Given the description of an element on the screen output the (x, y) to click on. 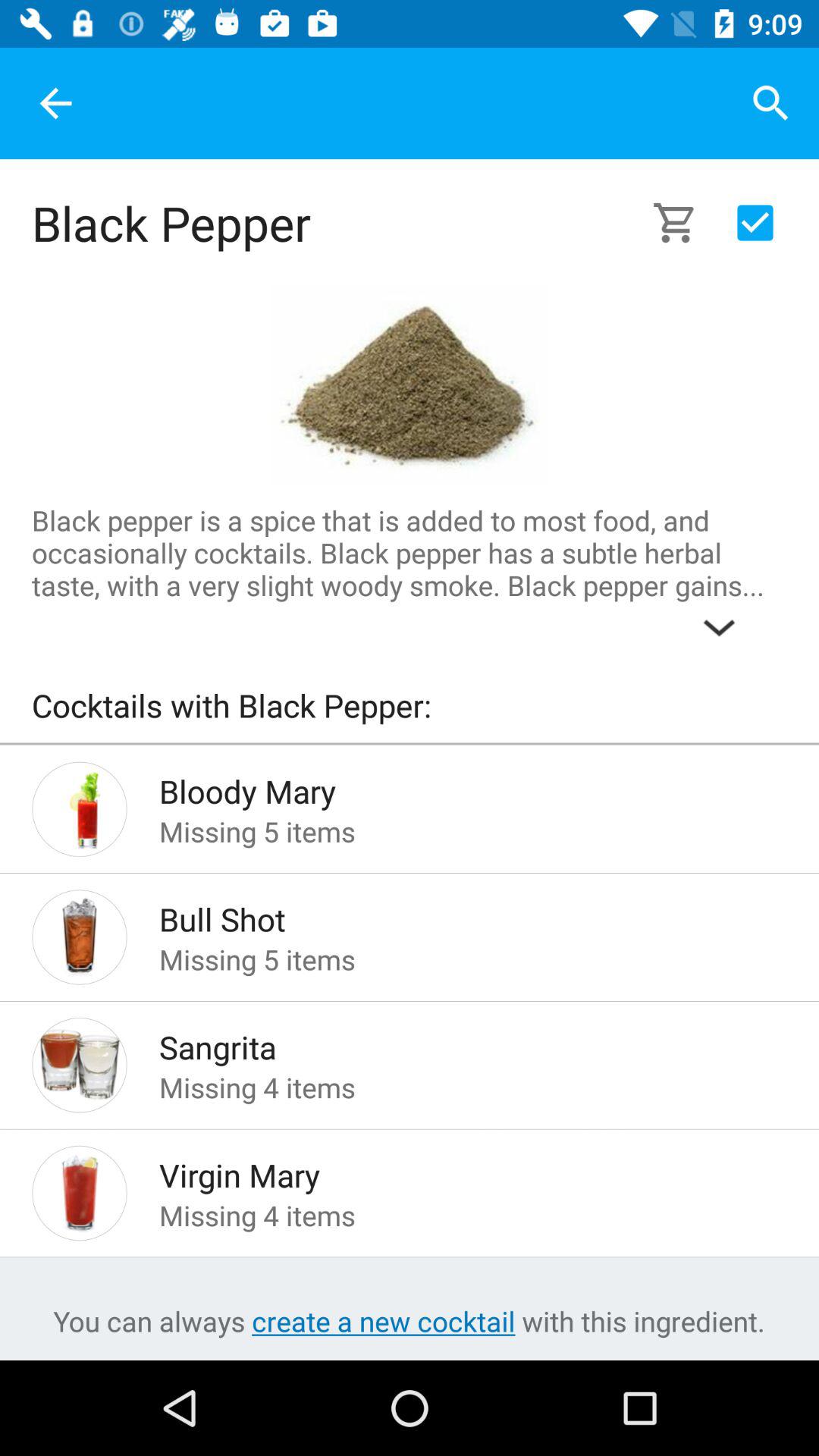
turn off the icon above missing 4 items icon (449, 1170)
